Given the description of an element on the screen output the (x, y) to click on. 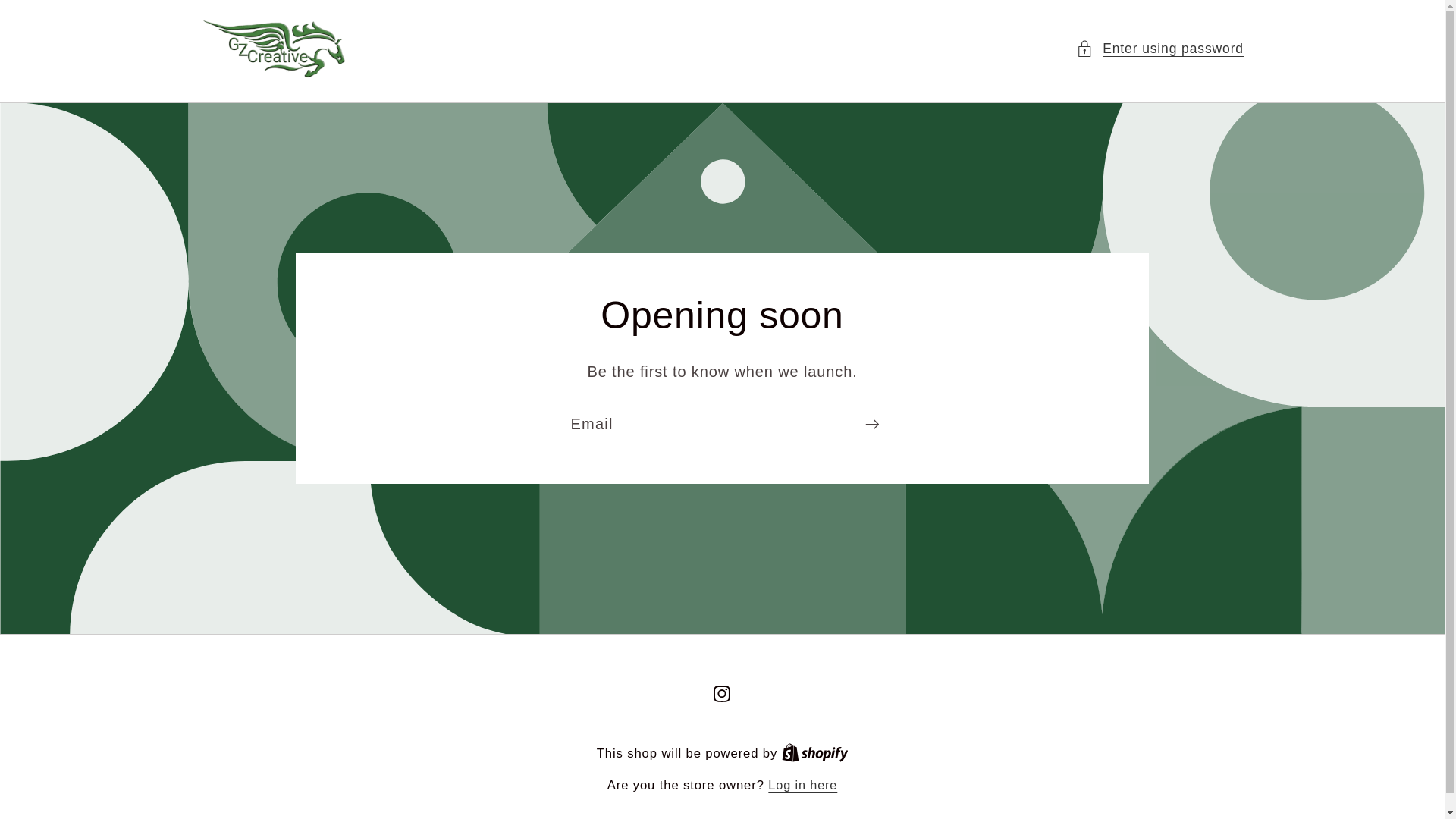
Skip to content (60, 24)
Instagram (721, 693)
Log in here (802, 784)
